Given the description of an element on the screen output the (x, y) to click on. 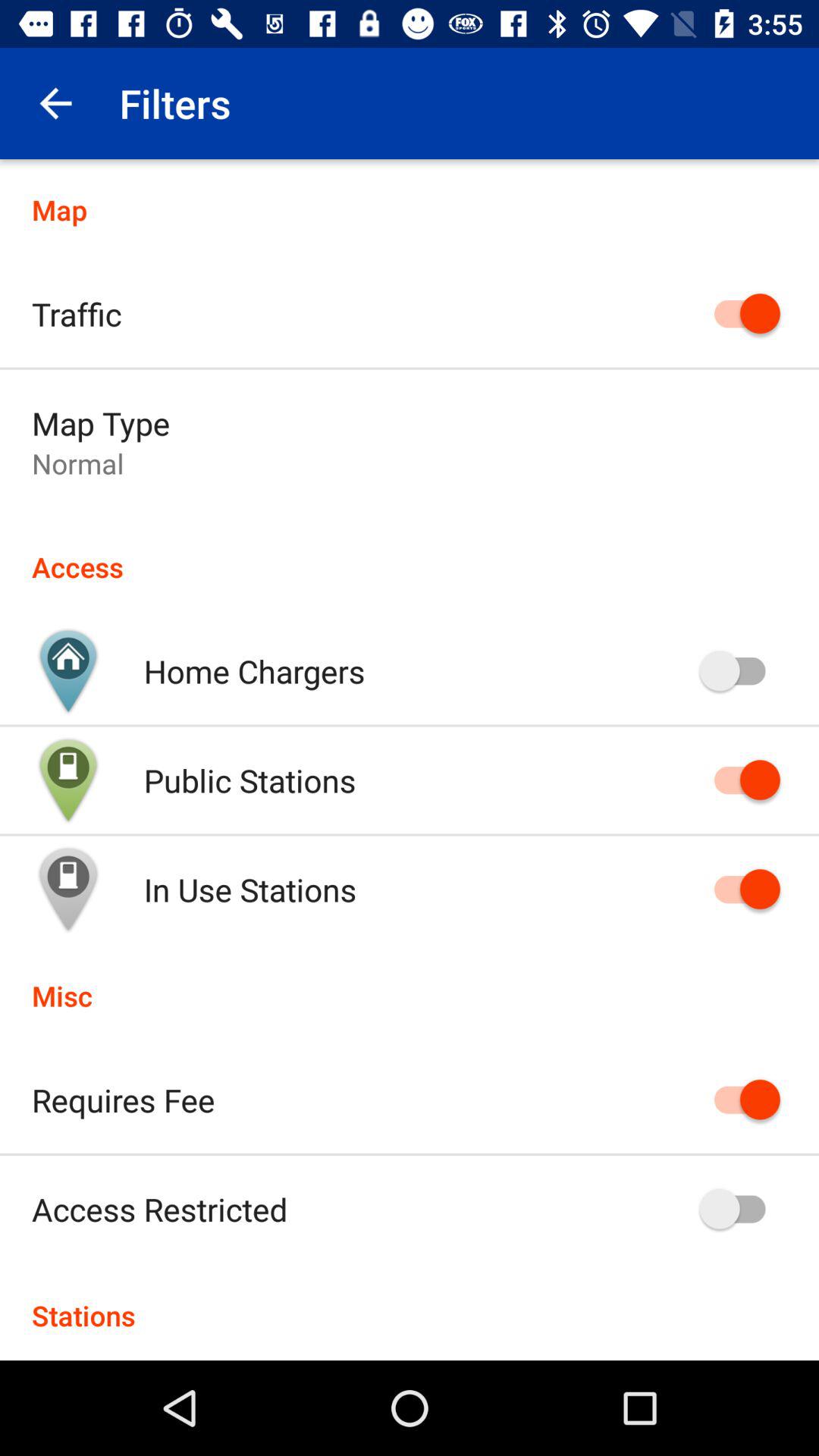
jump to misc (409, 979)
